Given the description of an element on the screen output the (x, y) to click on. 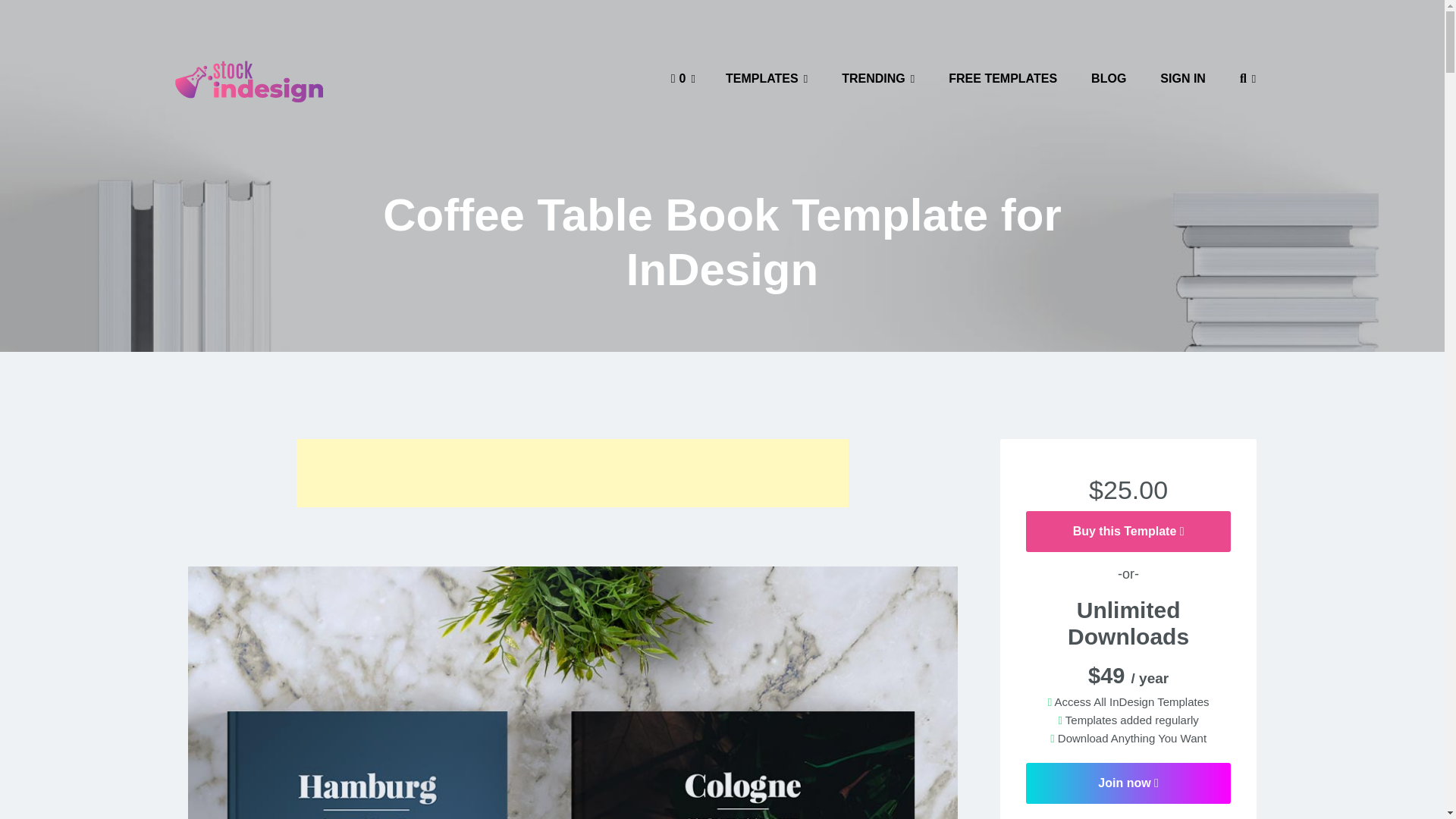
SIGN IN (1182, 78)
TEMPLATES (766, 78)
BLOG (1108, 78)
FREE TEMPLATES (1002, 78)
Advertisement (572, 472)
Search (33, 15)
TRENDING (878, 78)
0 (683, 78)
